Given the description of an element on the screen output the (x, y) to click on. 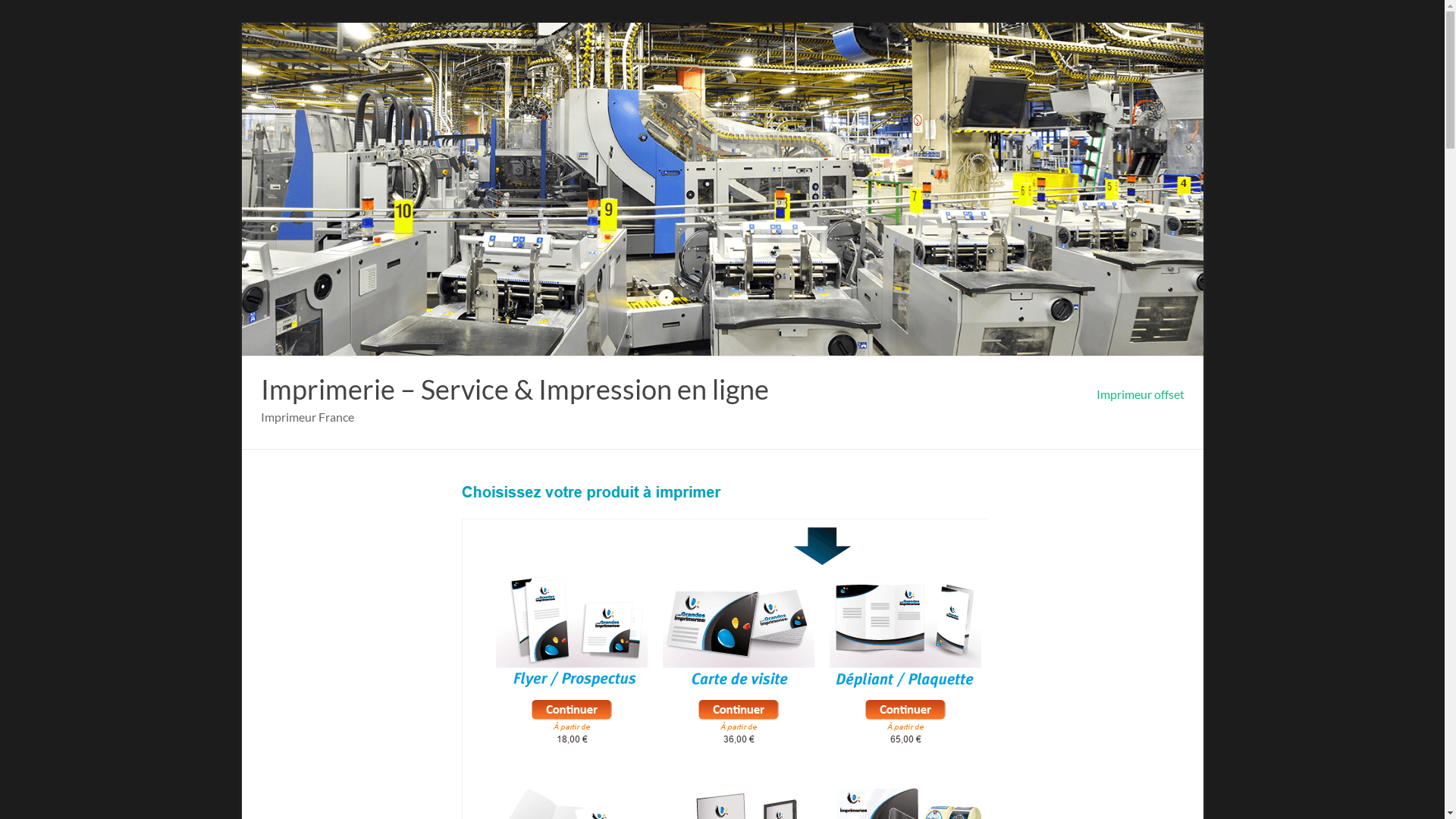
Imprimeur offset Element type: text (1140, 393)
Aller au contenu Element type: text (241, 21)
